Given the description of an element on the screen output the (x, y) to click on. 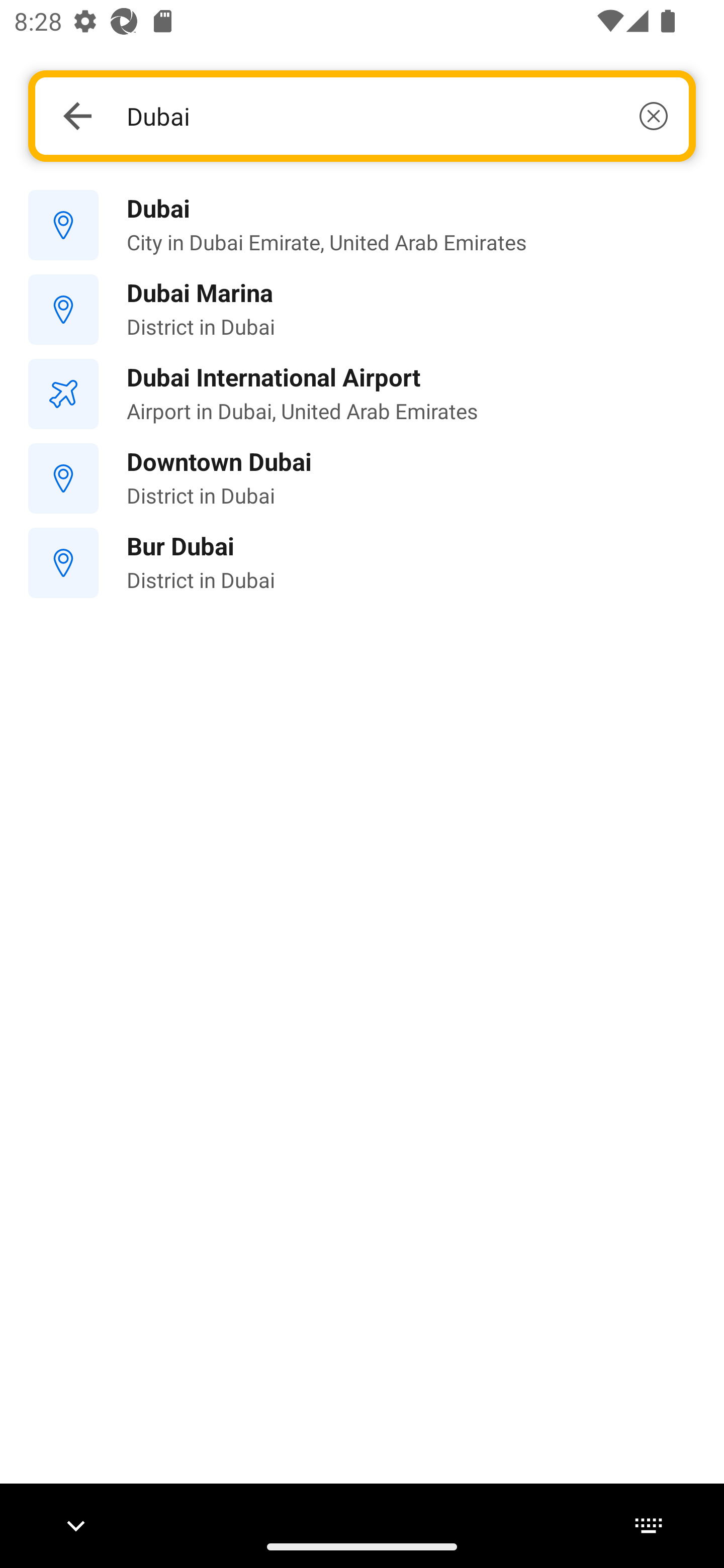
Dubai (396, 115)
Dubai City in Dubai Emirate, United Arab Emirates (362, 225)
Dubai Marina District in Dubai (362, 309)
Downtown Dubai District in Dubai (362, 477)
Bur Dubai District in Dubai (362, 562)
